Given the description of an element on the screen output the (x, y) to click on. 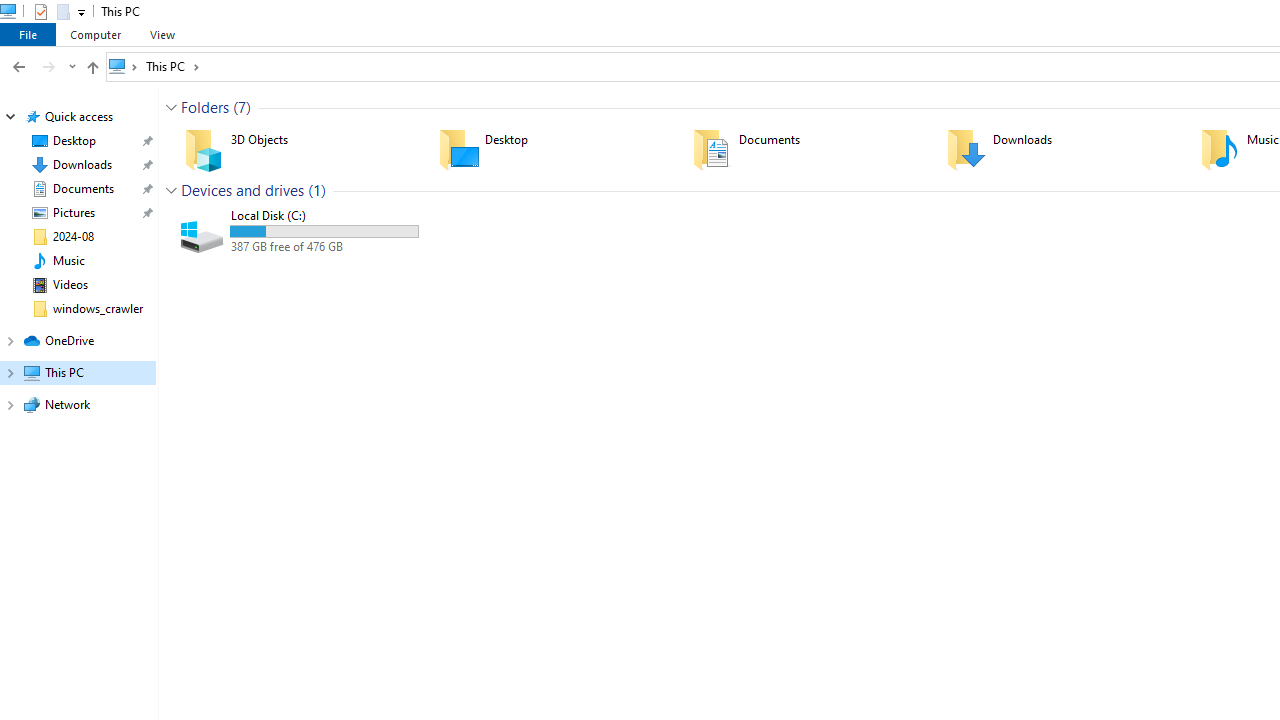
Forward (Alt + Right Arrow) (49, 66)
Desktop (552, 148)
Back to Network (Alt + Left Arrow) (18, 66)
Name (324, 215)
System (10, 11)
Navigation buttons (41, 66)
Local Disk (C:) (298, 231)
File tab (28, 34)
Computer (95, 34)
View (162, 34)
Downloads (1060, 148)
System (10, 11)
Space used (324, 231)
3D Objects (298, 148)
Quick Access Toolbar (51, 11)
